Given the description of an element on the screen output the (x, y) to click on. 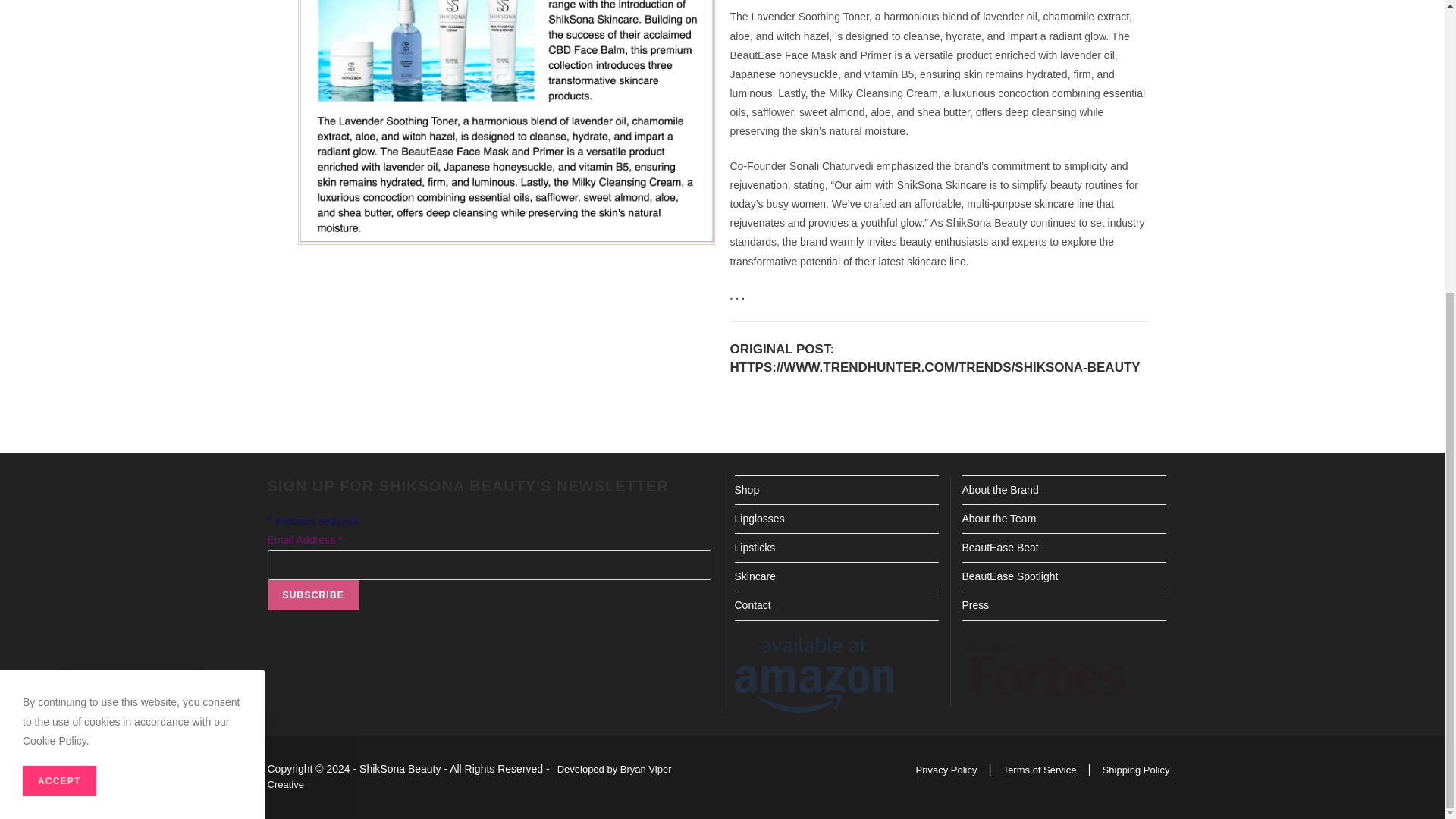
Subscribe (312, 594)
